Given the description of an element on the screen output the (x, y) to click on. 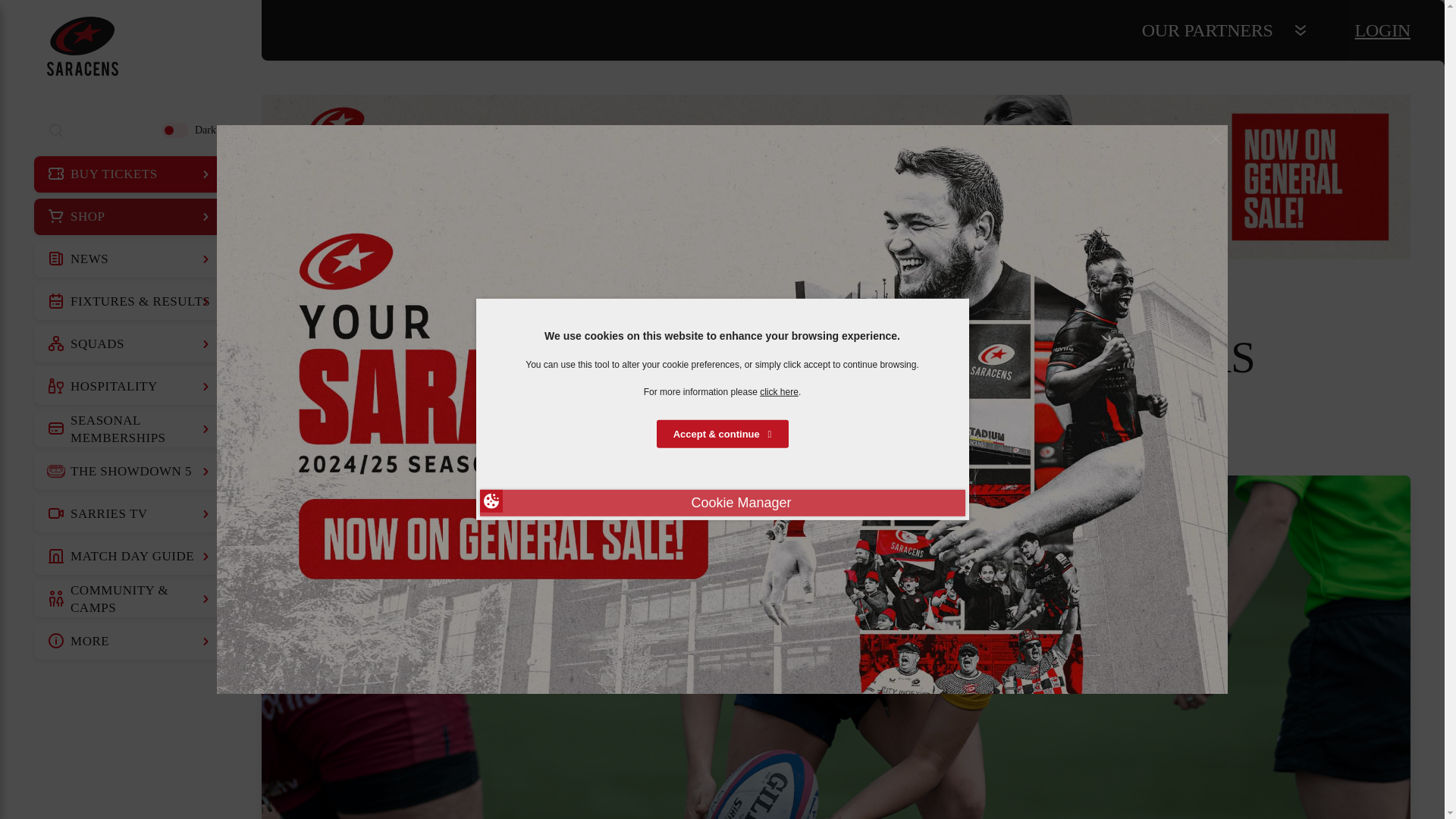
SHOP (130, 217)
HOSPITALITY (130, 386)
MATCH DAY GUIDE (130, 556)
SQUADS (130, 343)
Cookie Manager (721, 502)
LOGIN (1382, 29)
THE SHOWDOWN 5 (130, 471)
NEWS (130, 258)
MORE (130, 641)
SARRIES TV (130, 514)
BUY TICKETS (130, 174)
Search (55, 130)
SEASONAL MEMBERSHIPS (130, 429)
